Given the description of an element on the screen output the (x, y) to click on. 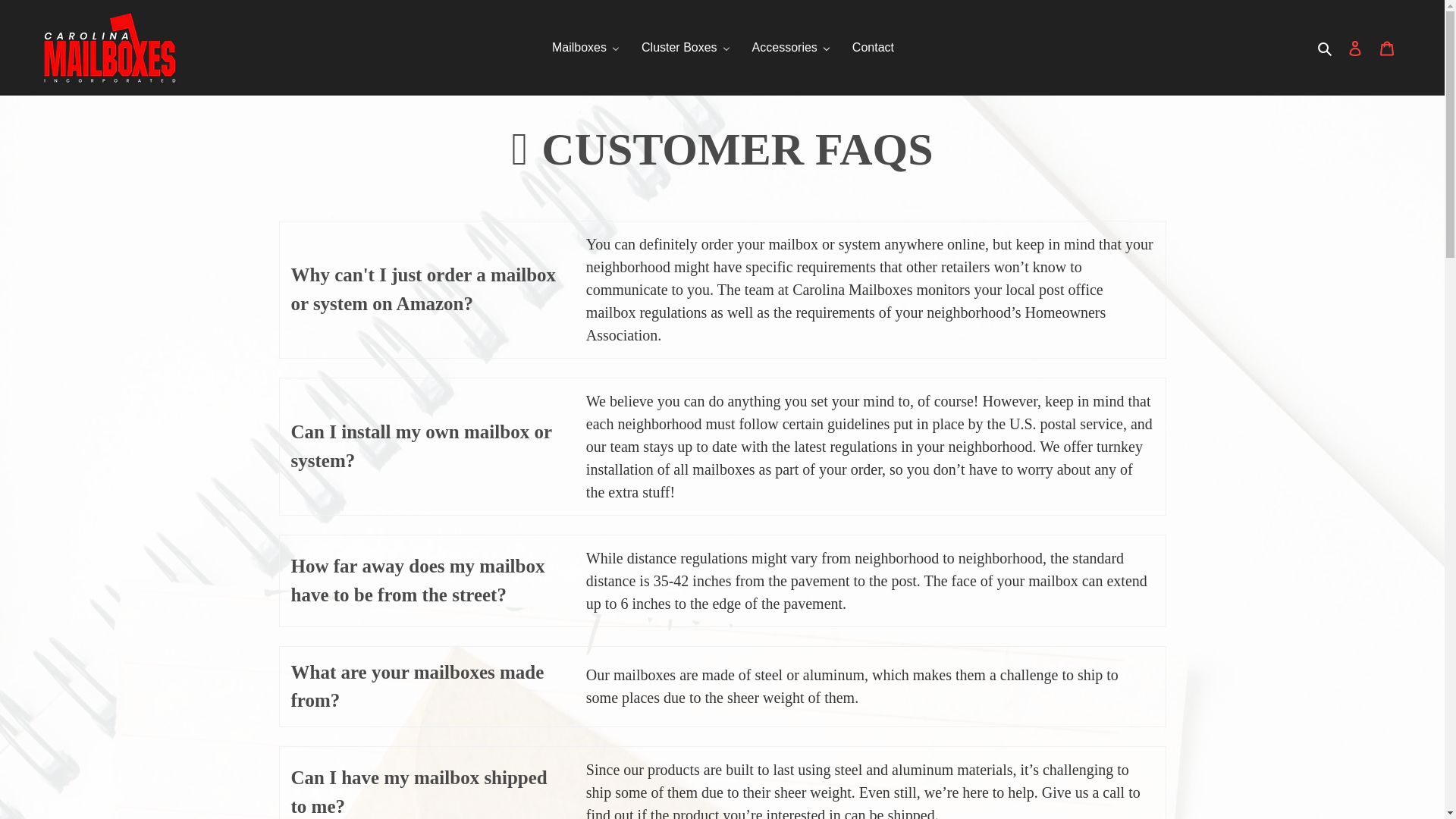
Contact (871, 47)
Cart (1387, 47)
Help widget launcher (1368, 781)
Log in (1355, 47)
Mailboxes (585, 47)
Search (1326, 47)
Accessories (791, 47)
Cluster Boxes (685, 47)
